Given the description of an element on the screen output the (x, y) to click on. 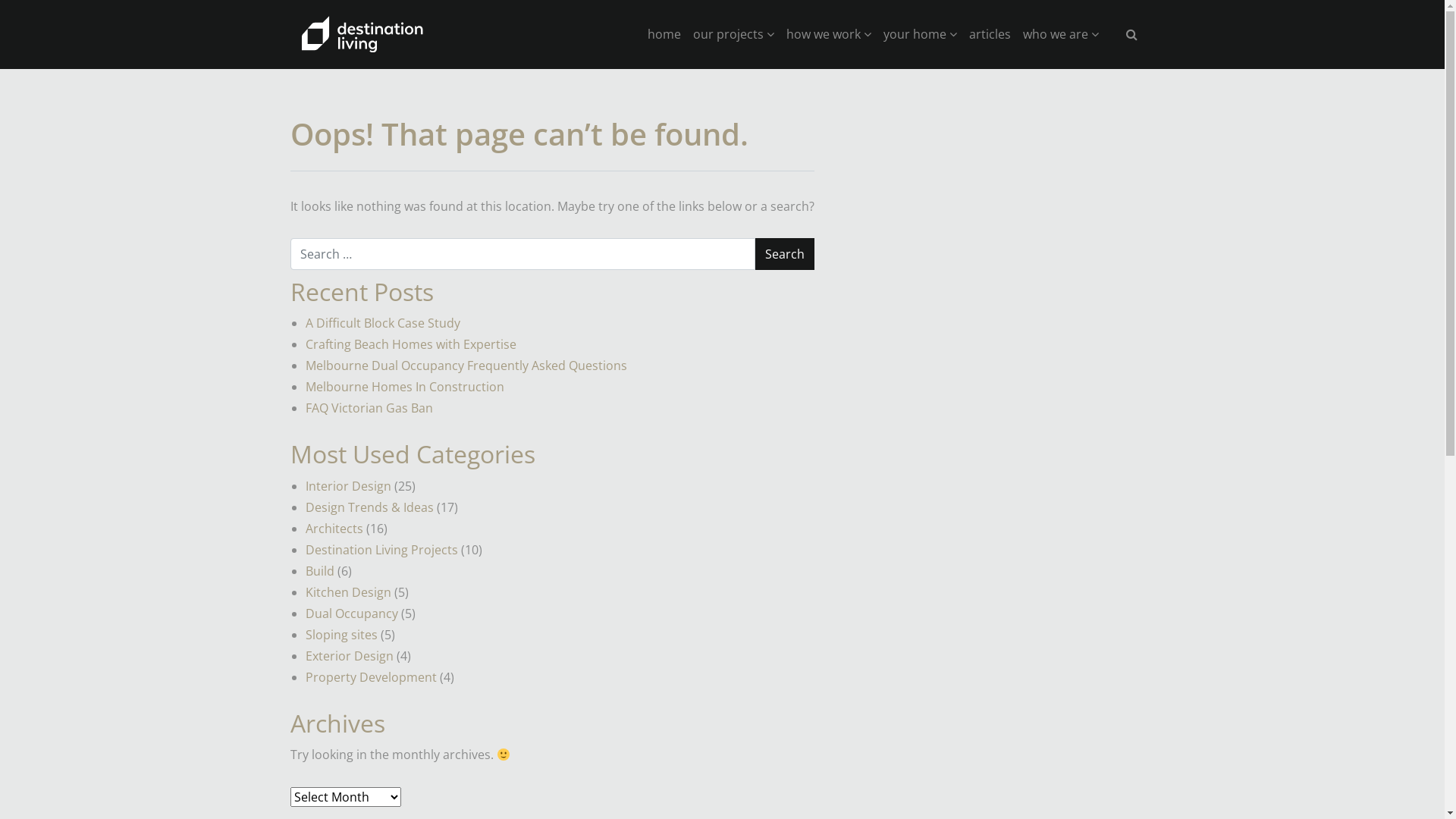
A Difficult Block Case Study Element type: text (381, 322)
Sloping sites Element type: text (340, 634)
articles Element type: text (989, 34)
Design Trends & Ideas Element type: text (368, 506)
Property Development Element type: text (370, 676)
your home Element type: text (919, 34)
Crafting Beach Homes with Expertise Element type: text (409, 343)
Destination Living Element type: hover (362, 34)
Exterior Design Element type: text (348, 655)
Interior Design Element type: text (347, 485)
Architects Element type: text (333, 528)
Kitchen Design Element type: text (347, 591)
Build Element type: text (318, 570)
Dual Occupancy Element type: text (350, 613)
our projects Element type: text (733, 34)
Melbourne Homes In Construction Element type: text (403, 386)
Destination Living Projects Element type: text (380, 549)
who we are Element type: text (1060, 34)
home Element type: text (664, 34)
Melbourne Dual Occupancy Frequently Asked Questions Element type: text (465, 365)
how we work Element type: text (827, 34)
Search Element type: text (784, 253)
FAQ Victorian Gas Ban Element type: text (368, 407)
